Given the description of an element on the screen output the (x, y) to click on. 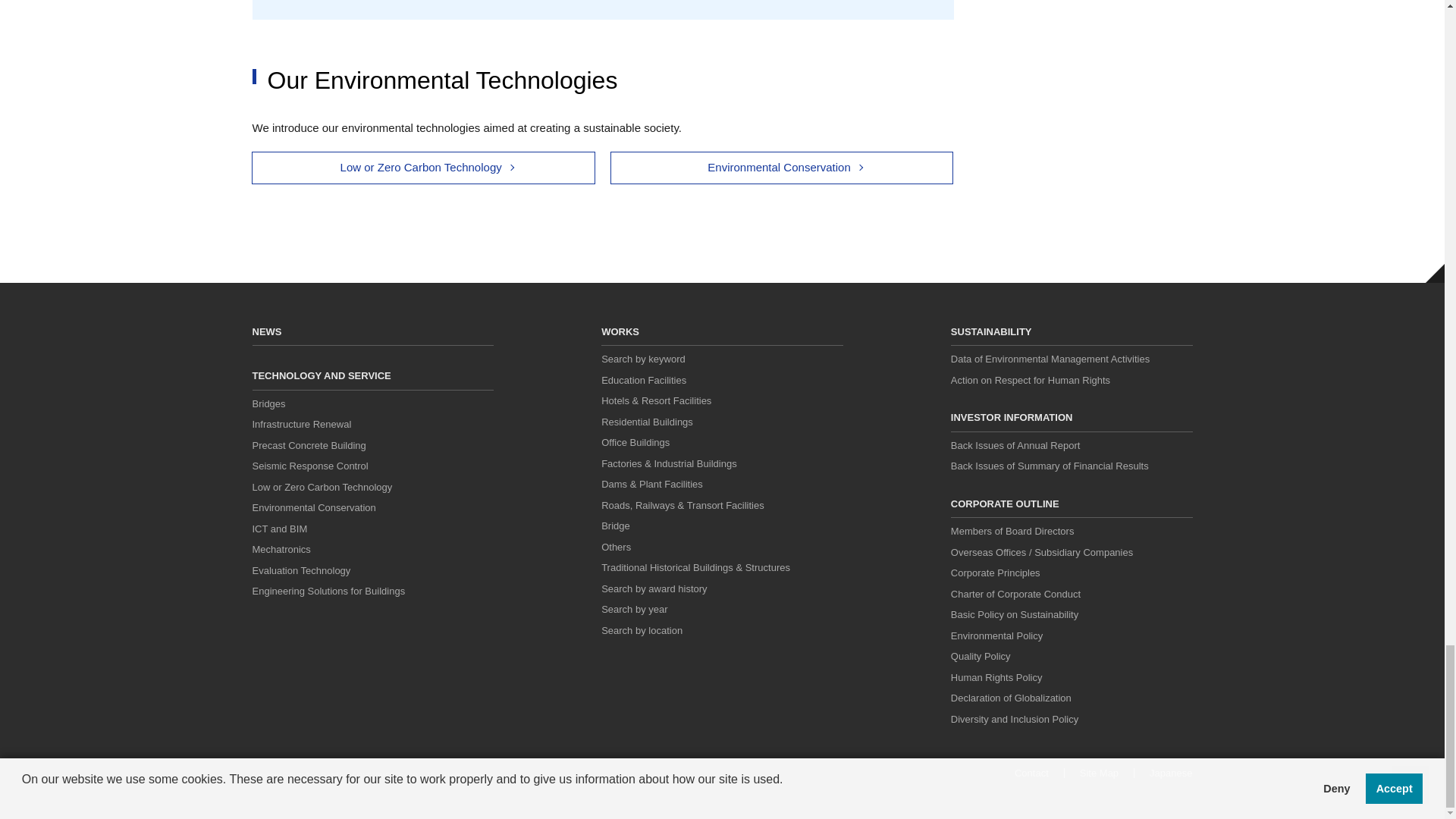
Bridges (268, 403)
ICT and BIM (279, 528)
Engineering Solutions for Buildings (327, 591)
TECHNOLOGY AND SERVICE (320, 375)
Evaluation Technology (300, 570)
Environmental Conservation (313, 507)
Low or Zero Carbon Technology (321, 487)
Seismic Response Control (309, 465)
Environmental Conservation (781, 167)
Mechatronics (280, 549)
Low or Zero Carbon Technology (423, 167)
Infrastructure Renewal (300, 423)
NEWS (266, 331)
Precast Concrete Building (308, 445)
